Given the description of an element on the screen output the (x, y) to click on. 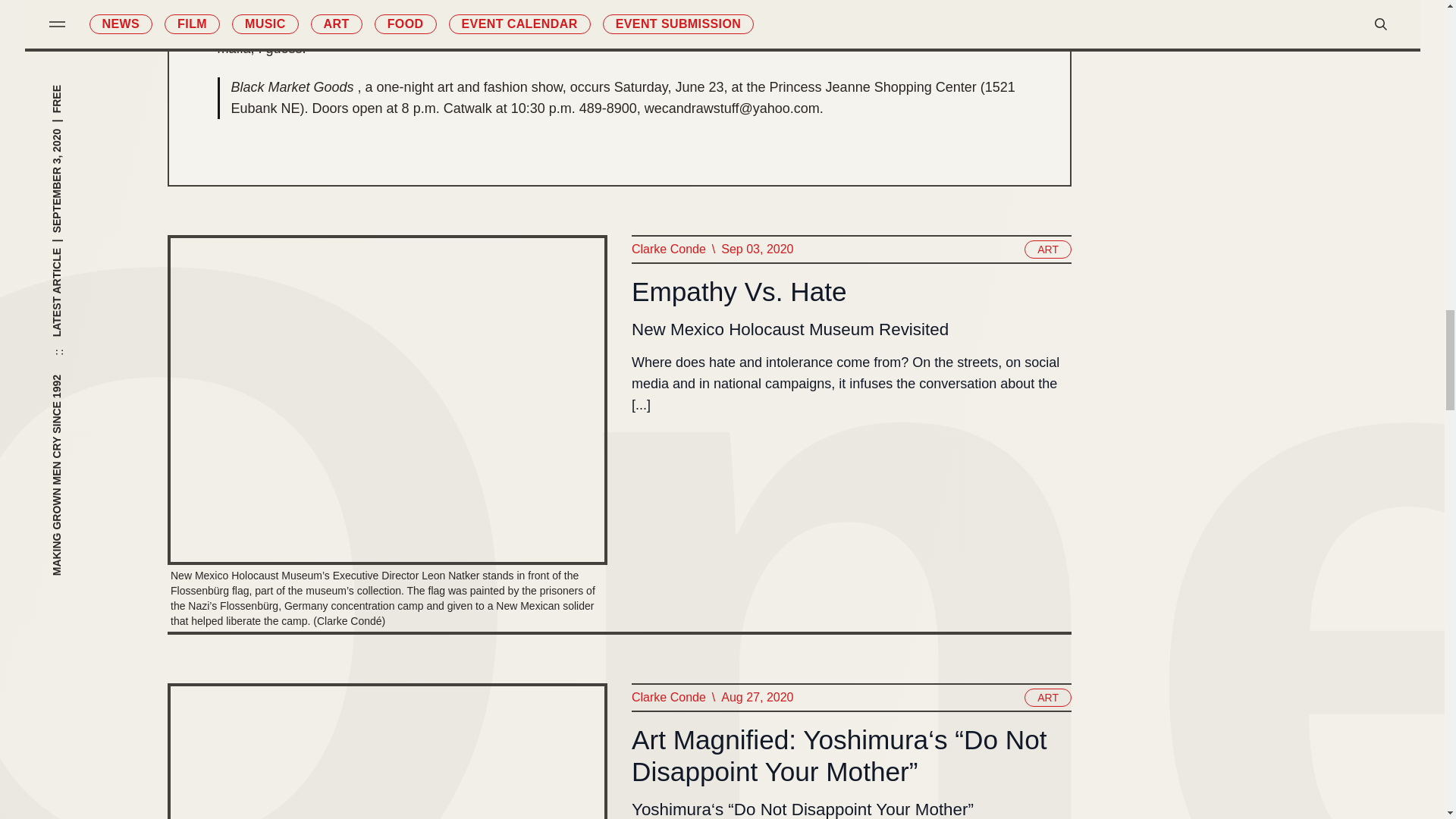
Clarke Conde (667, 697)
ART (1048, 697)
ART (1048, 249)
Clarke Conde (667, 249)
